Given the description of an element on the screen output the (x, y) to click on. 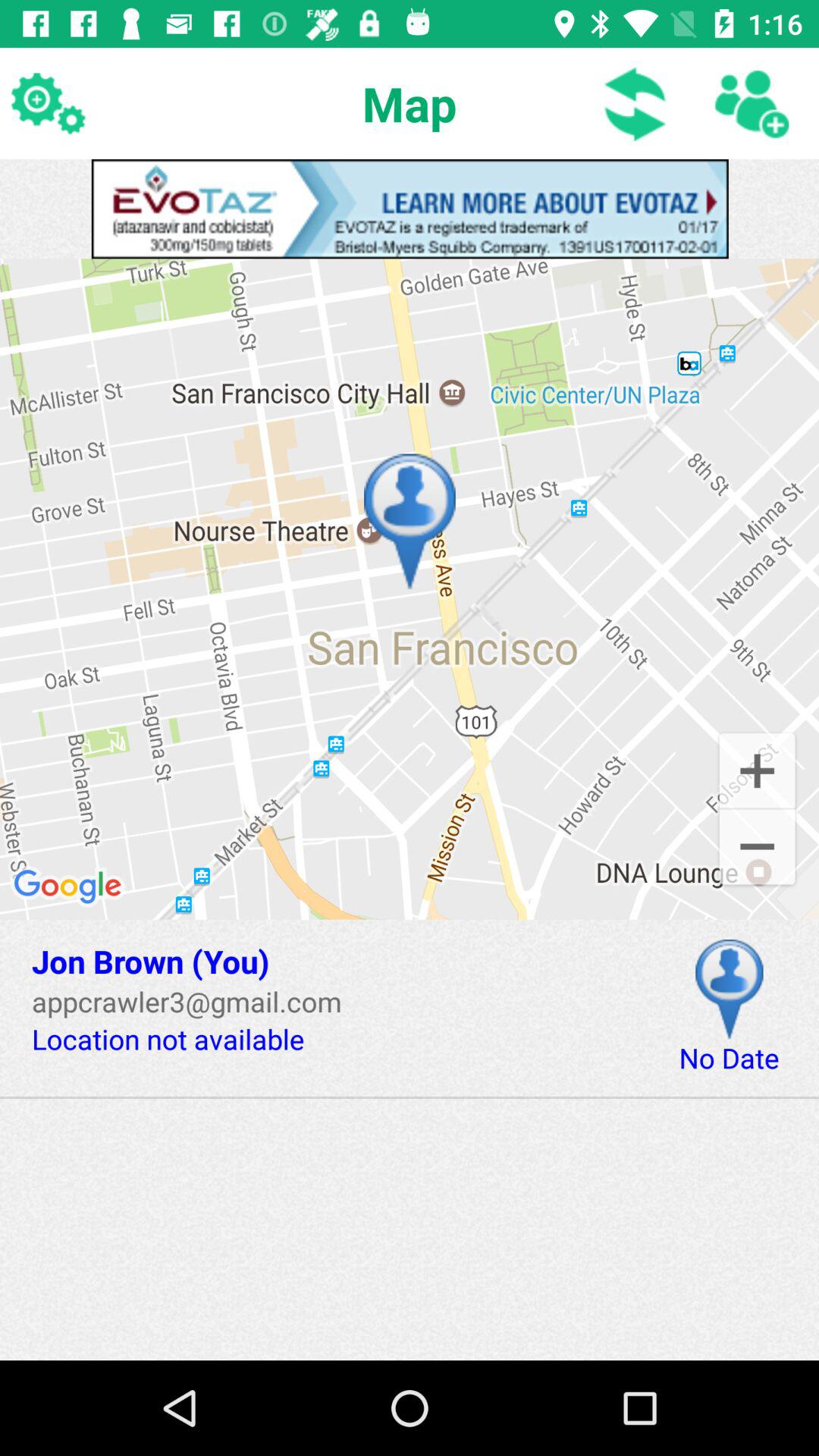
options menu (47, 103)
